Given the description of an element on the screen output the (x, y) to click on. 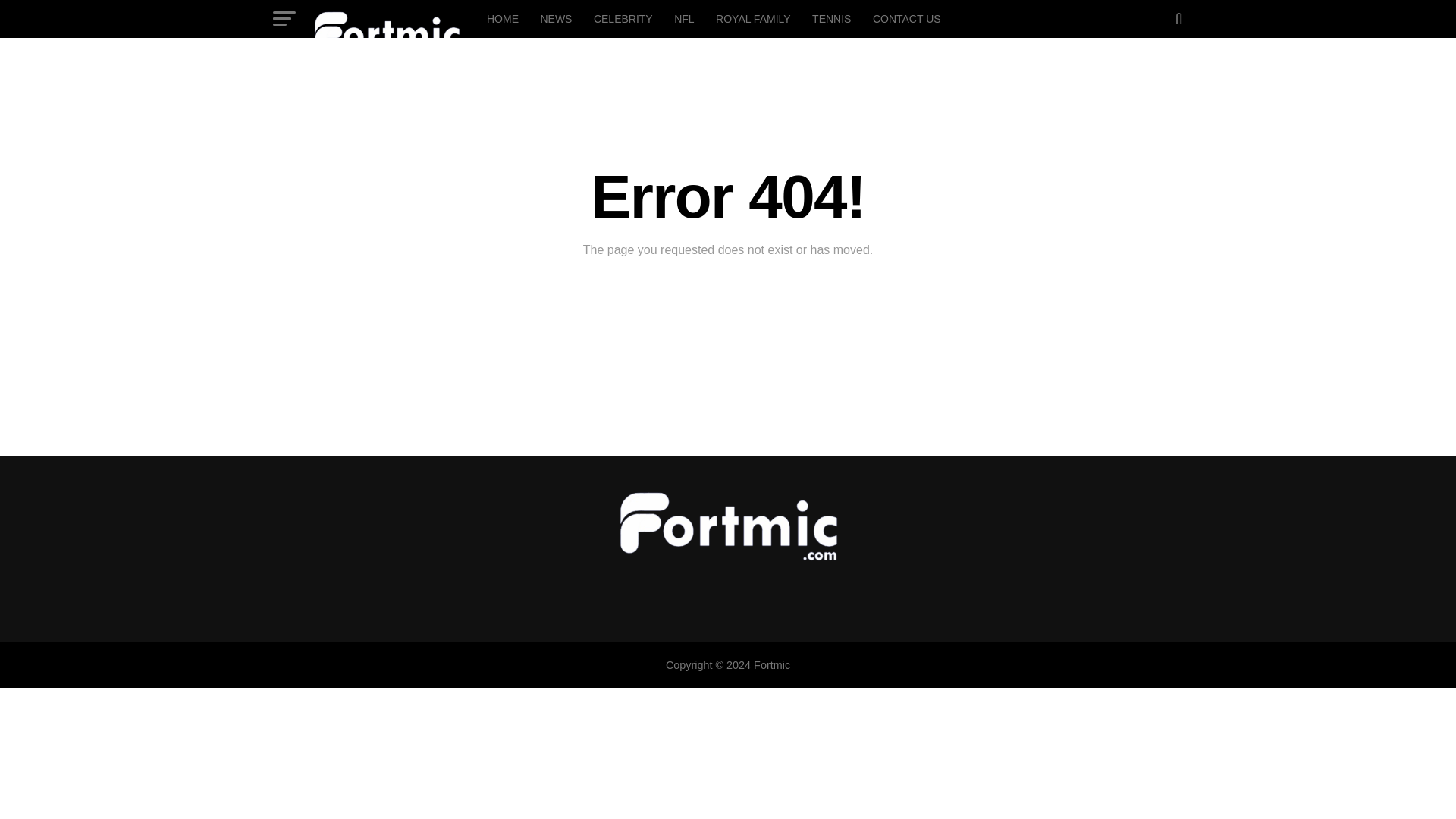
ROYAL FAMILY (752, 18)
NFL (684, 18)
TENNIS (831, 18)
CELEBRITY (623, 18)
NEWS (555, 18)
CONTACT US (906, 18)
HOME (502, 18)
